Given the description of an element on the screen output the (x, y) to click on. 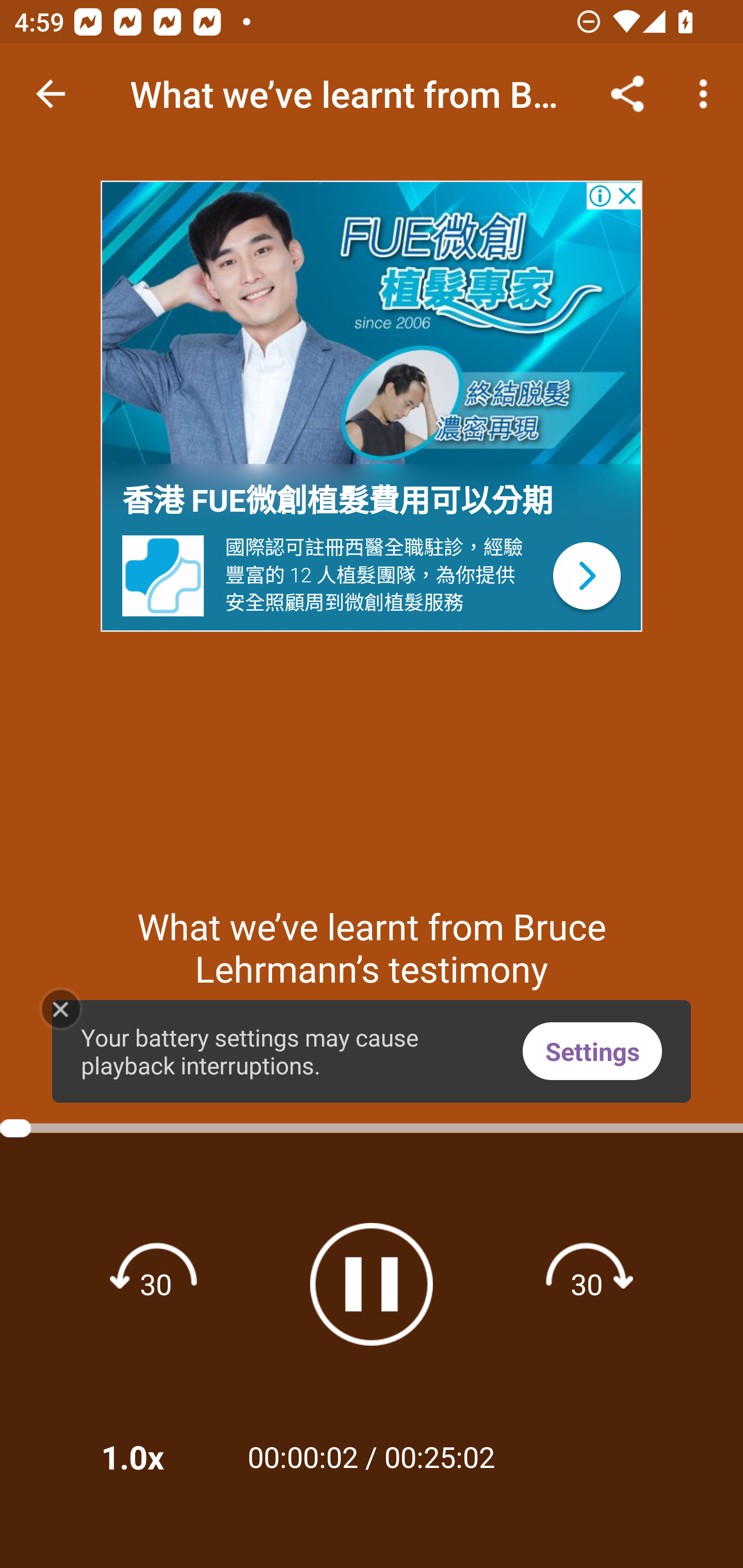
Navigate up (50, 93)
Share... (626, 93)
More options (706, 93)
www.hairtransplant (371, 324)
香港 FUE微創植髮費用可以分期 (337, 500)
www.hairtransplant (163, 575)
www.hairtransplant (586, 575)
Settings (592, 1051)
Pause (371, 1284)
Rewind (155, 1282)
Fast forward (586, 1282)
1.0x Playback Speeds (158, 1456)
00:25:02 (439, 1455)
